Given the description of an element on the screen output the (x, y) to click on. 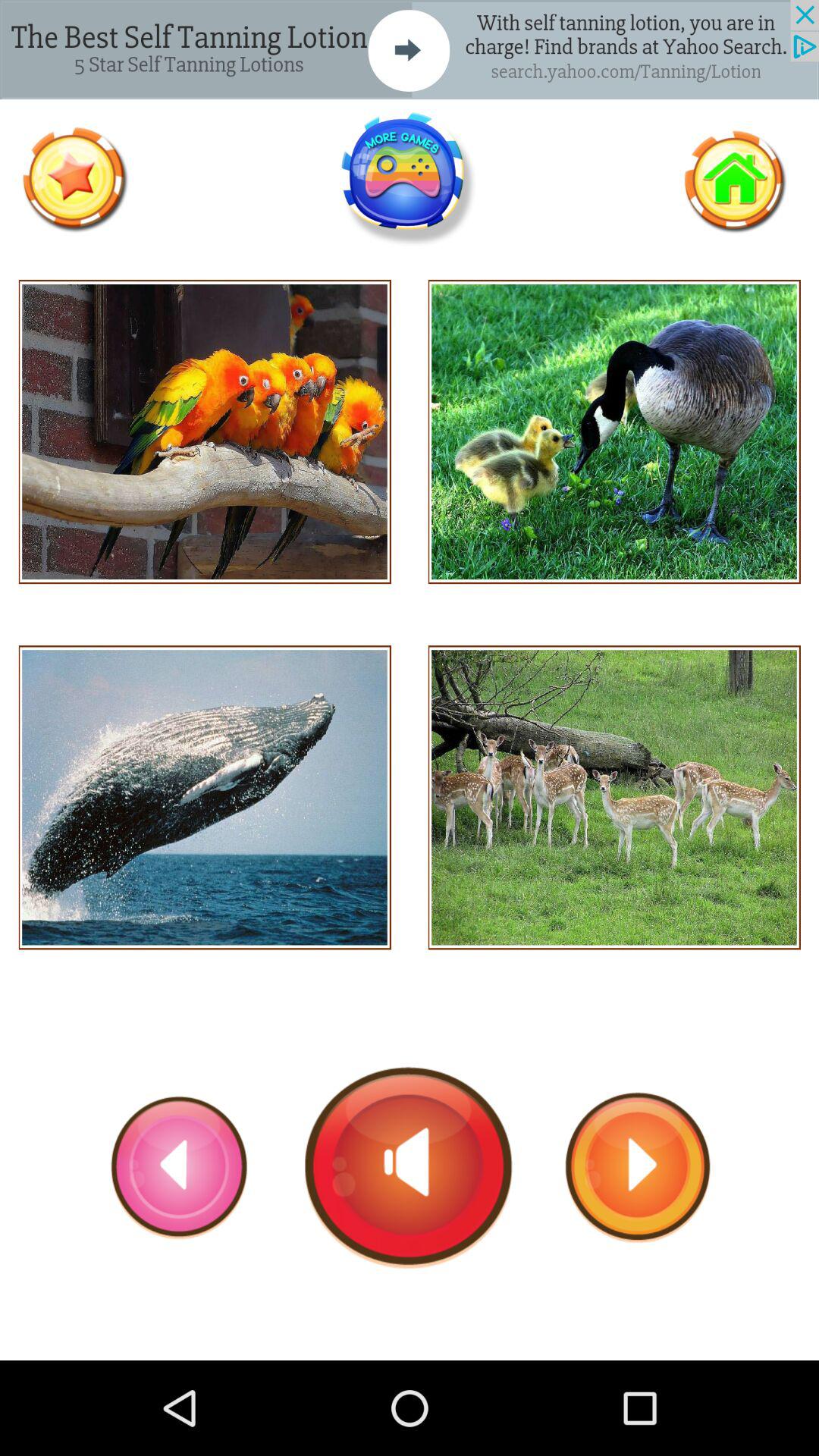
go back (179, 1166)
